Given the description of an element on the screen output the (x, y) to click on. 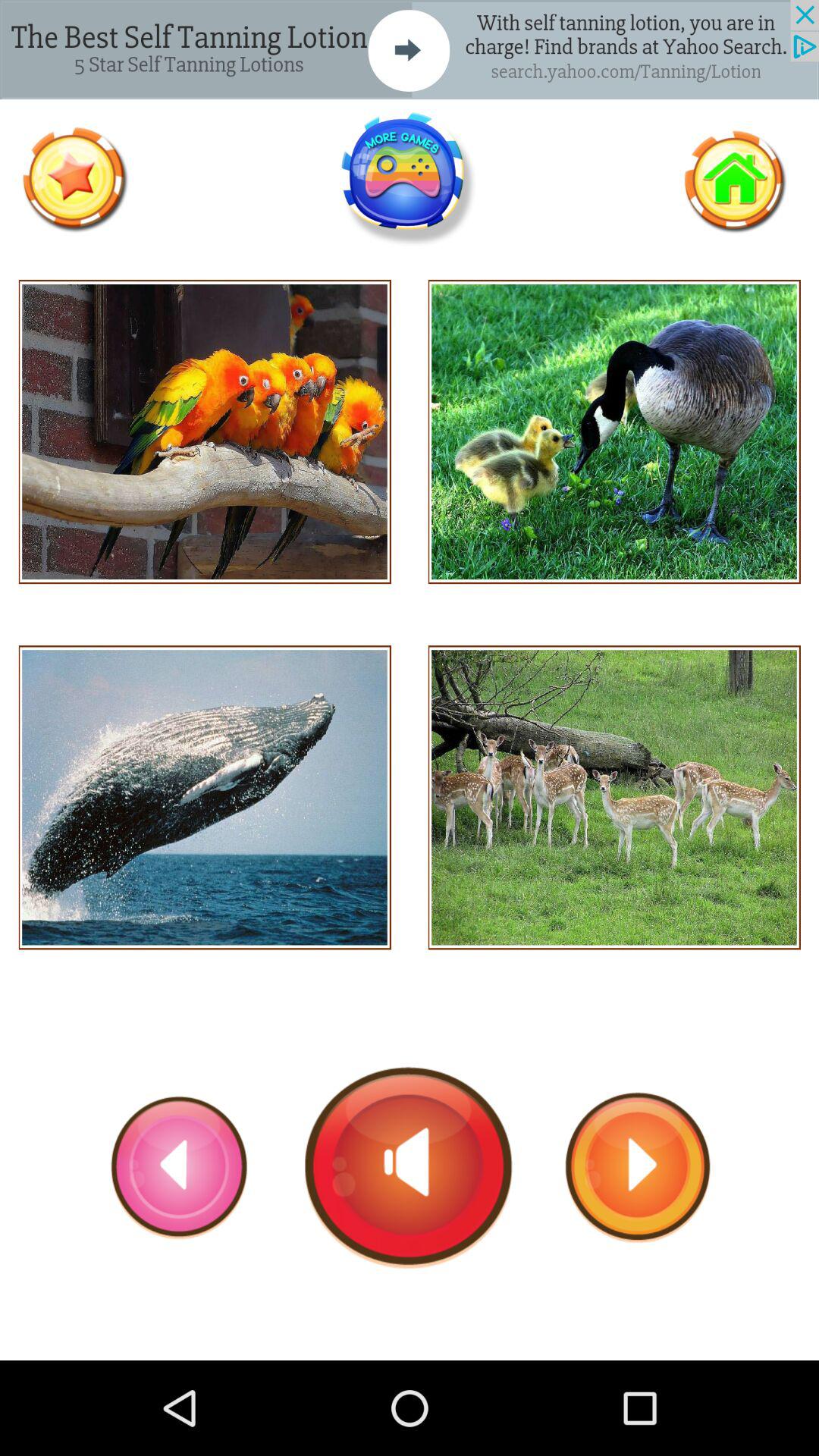
go back (179, 1166)
